Given the description of an element on the screen output the (x, y) to click on. 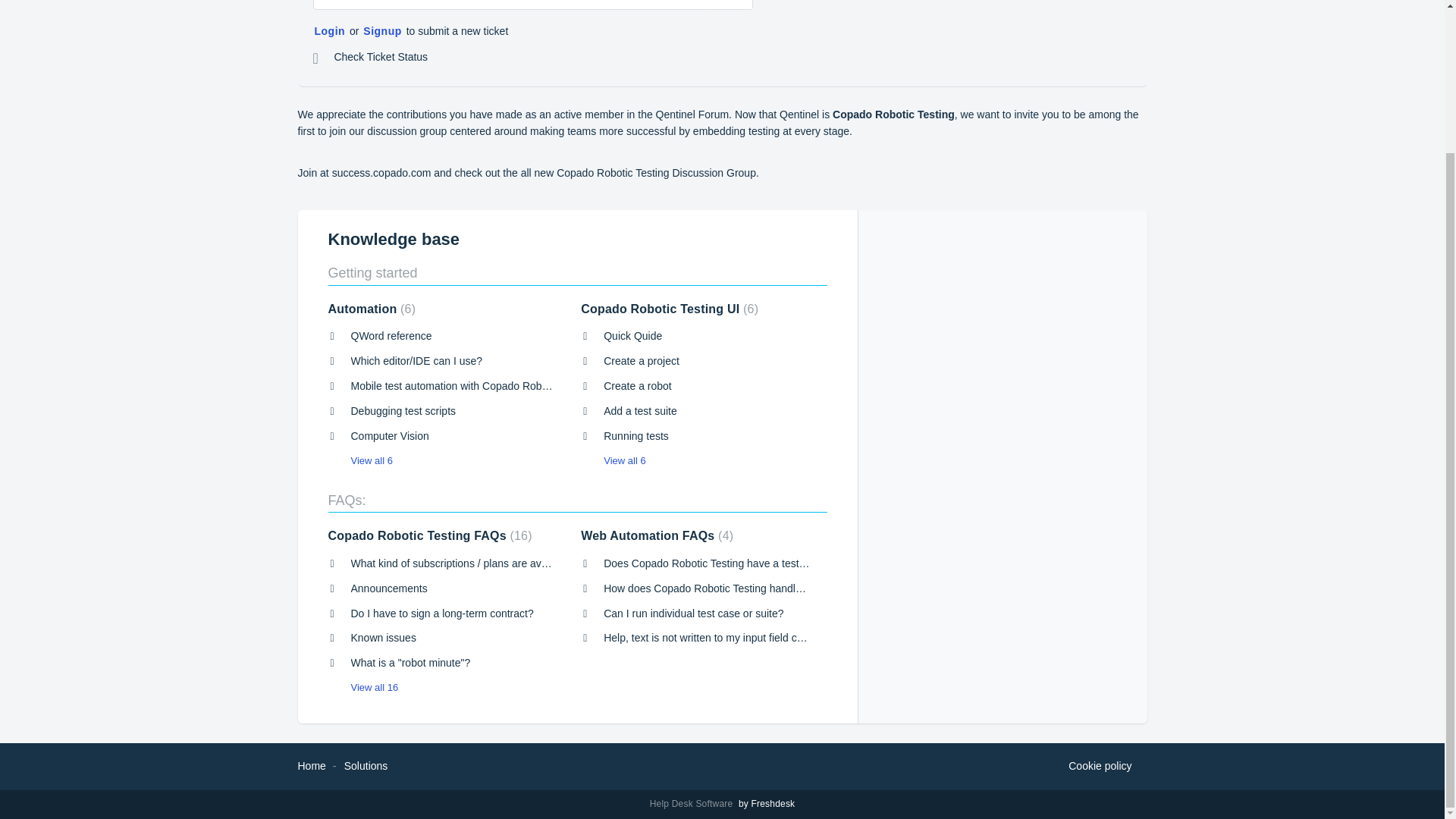
Copado Robotic Testing UI 6 (669, 308)
Why we love Cookies (1099, 766)
Automation (370, 308)
success.copado.com (380, 173)
Computer Vision (389, 435)
Create a project (641, 360)
Running tests (636, 435)
Copado Robotic Testing FAQs 16 (429, 535)
Check ticket status (370, 57)
Known issues (382, 637)
Copado Robotic Testing FAQs (429, 535)
Web Automation FAQs 4 (656, 535)
Can I run individual test case or suite? (693, 613)
Mobile test automation with Copado Robotic Testing (472, 386)
